Given the description of an element on the screen output the (x, y) to click on. 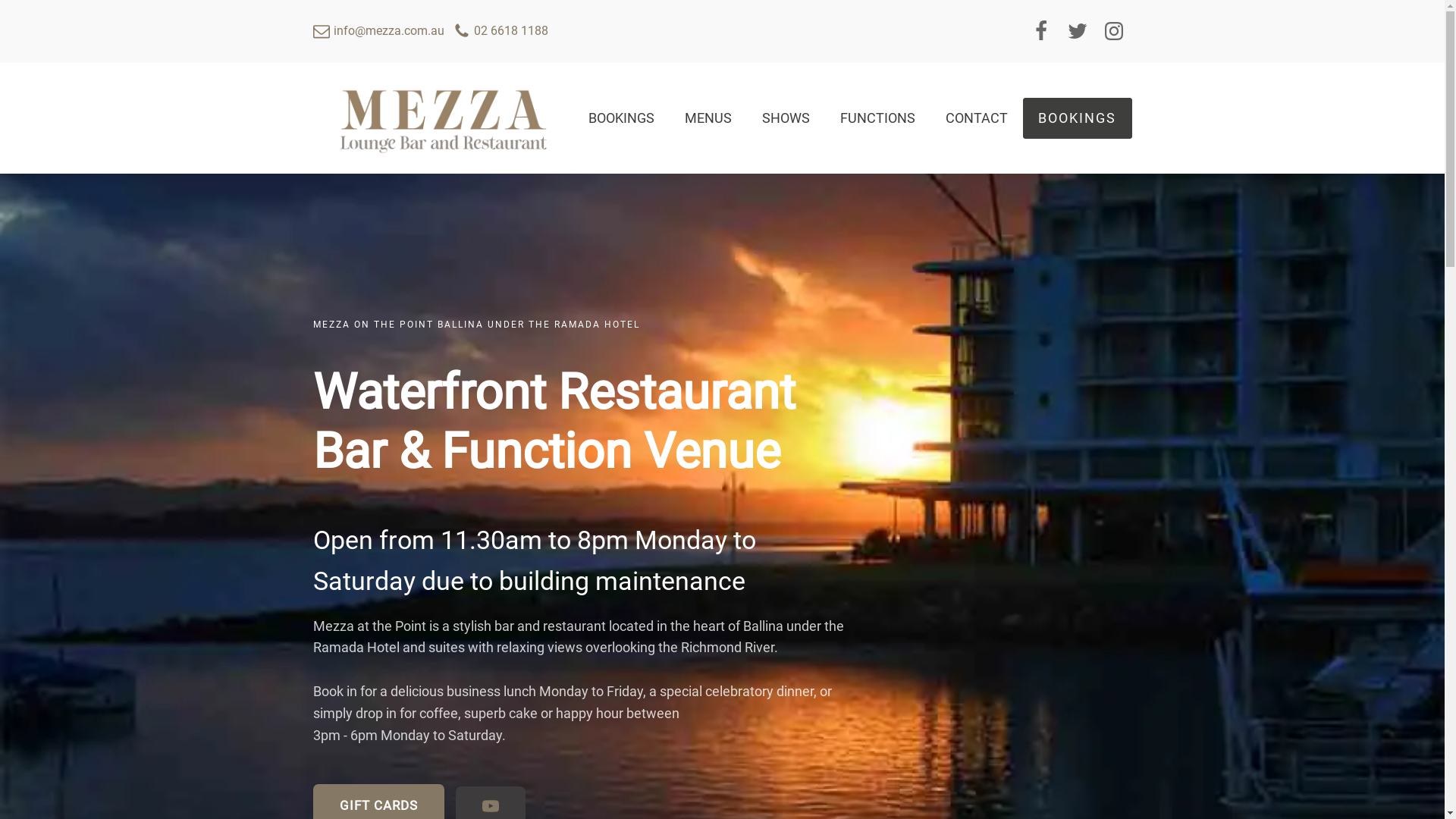
CONTACT Element type: text (976, 118)
BOOKINGS Element type: text (1076, 118)
MENUS Element type: text (707, 118)
info@mezza.com.au Element type: text (377, 30)
FUNCTIONS Element type: text (877, 118)
02 6618 1188 Element type: text (500, 30)
SHOWS Element type: text (785, 118)
BOOKINGS Element type: text (621, 118)
